Given the description of an element on the screen output the (x, y) to click on. 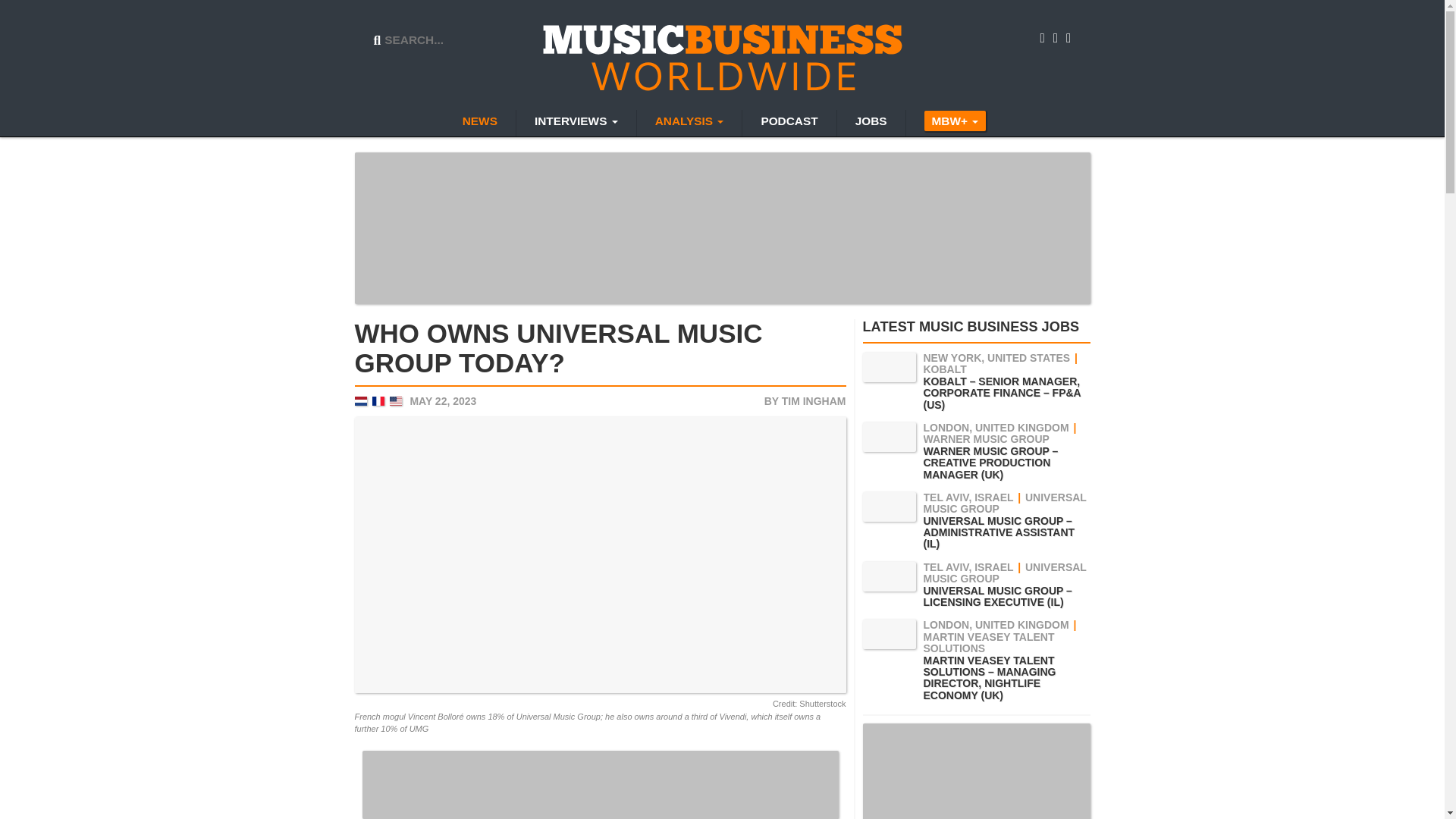
TIM INGHAM (813, 400)
Music Business Worldwide (722, 56)
ANALYSIS (689, 122)
United States (395, 400)
INTERVIEWS (575, 122)
Netherlands (360, 400)
Music Business Worldwide (722, 56)
France (377, 400)
NEWS (479, 122)
JOBS (870, 122)
PODCAST (788, 122)
